Given the description of an element on the screen output the (x, y) to click on. 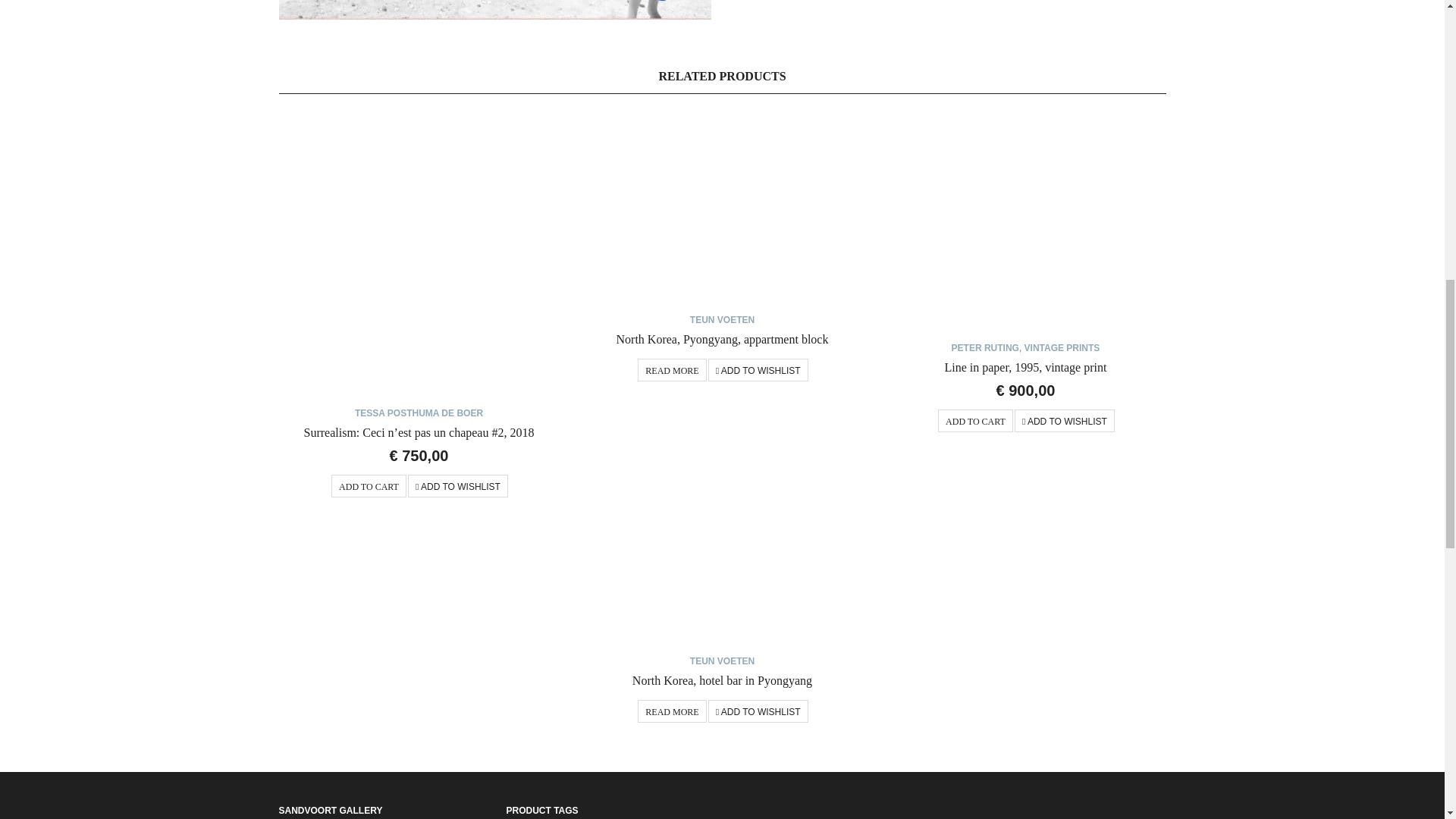
North Korea, Pyongyang, appartment block (721, 338)
North Korea, Pyongyang, appartment block (720, 206)
Line in paper, 1995, vintage print (1025, 220)
North Korea, hotel bar in Pyongyang (720, 548)
North Korea, hotel bar in Pyongyang (721, 680)
Line in paper, 1995, vintage print (1024, 367)
